Given the description of an element on the screen output the (x, y) to click on. 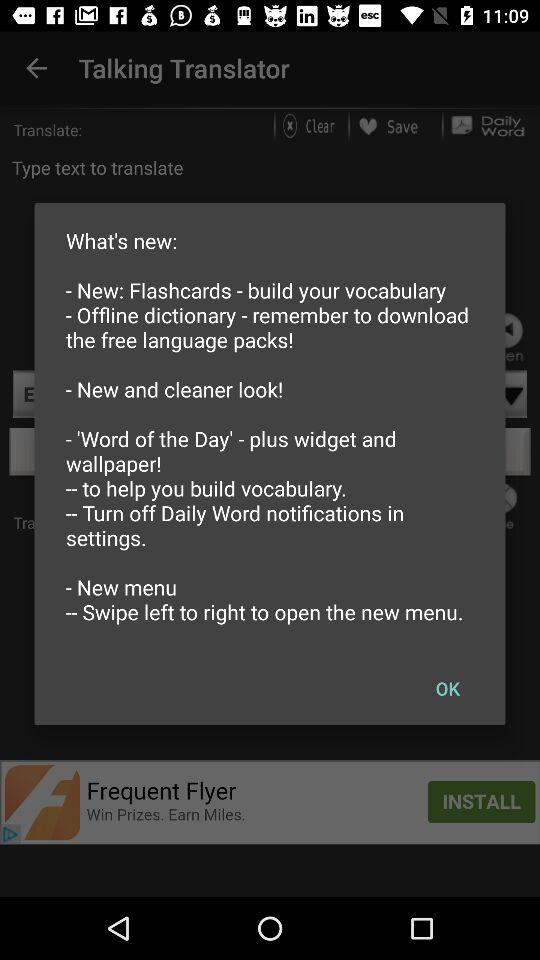
tap the ok icon (447, 688)
